Given the description of an element on the screen output the (x, y) to click on. 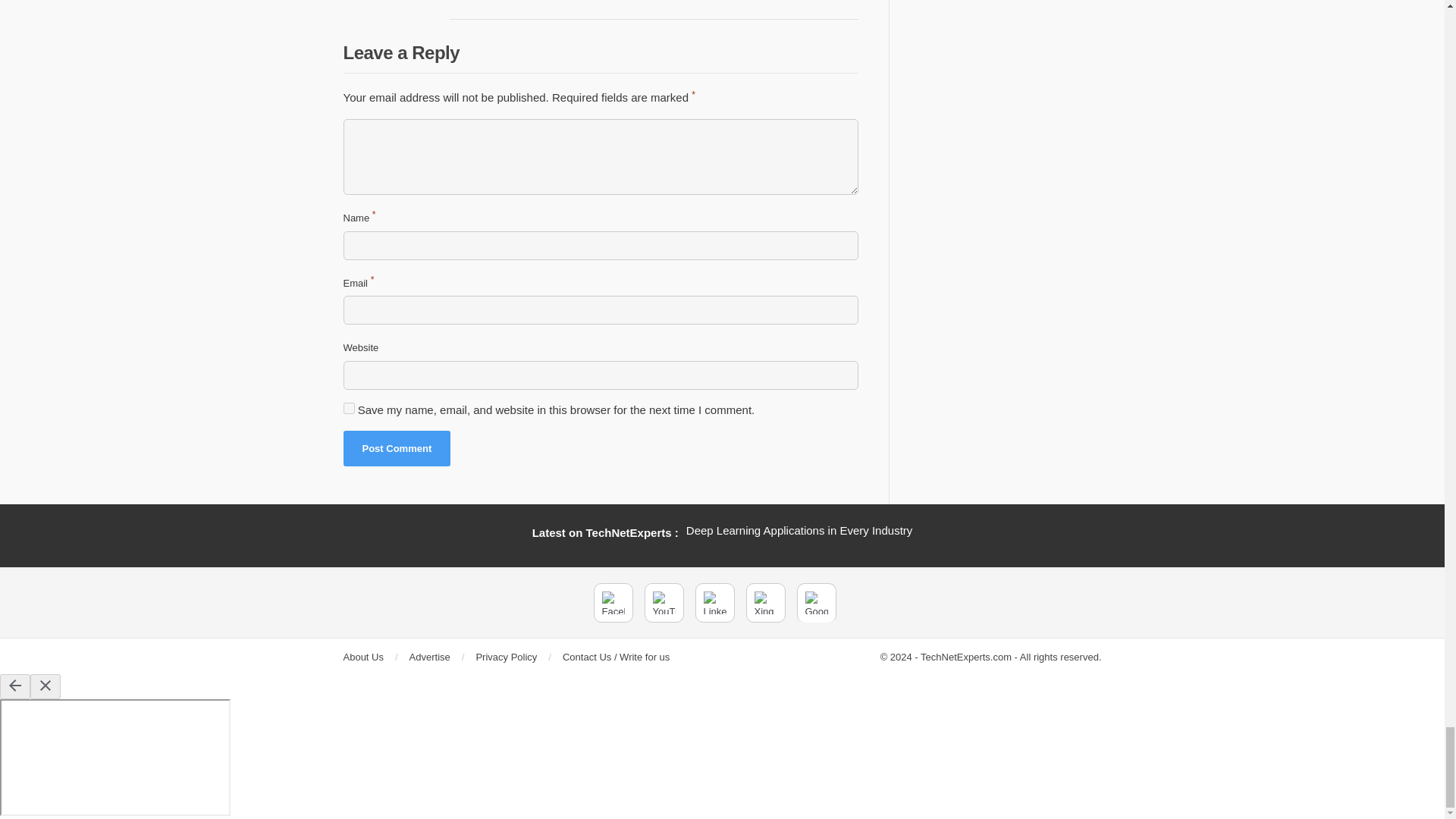
Post Comment (395, 448)
yes (347, 408)
